Given the description of an element on the screen output the (x, y) to click on. 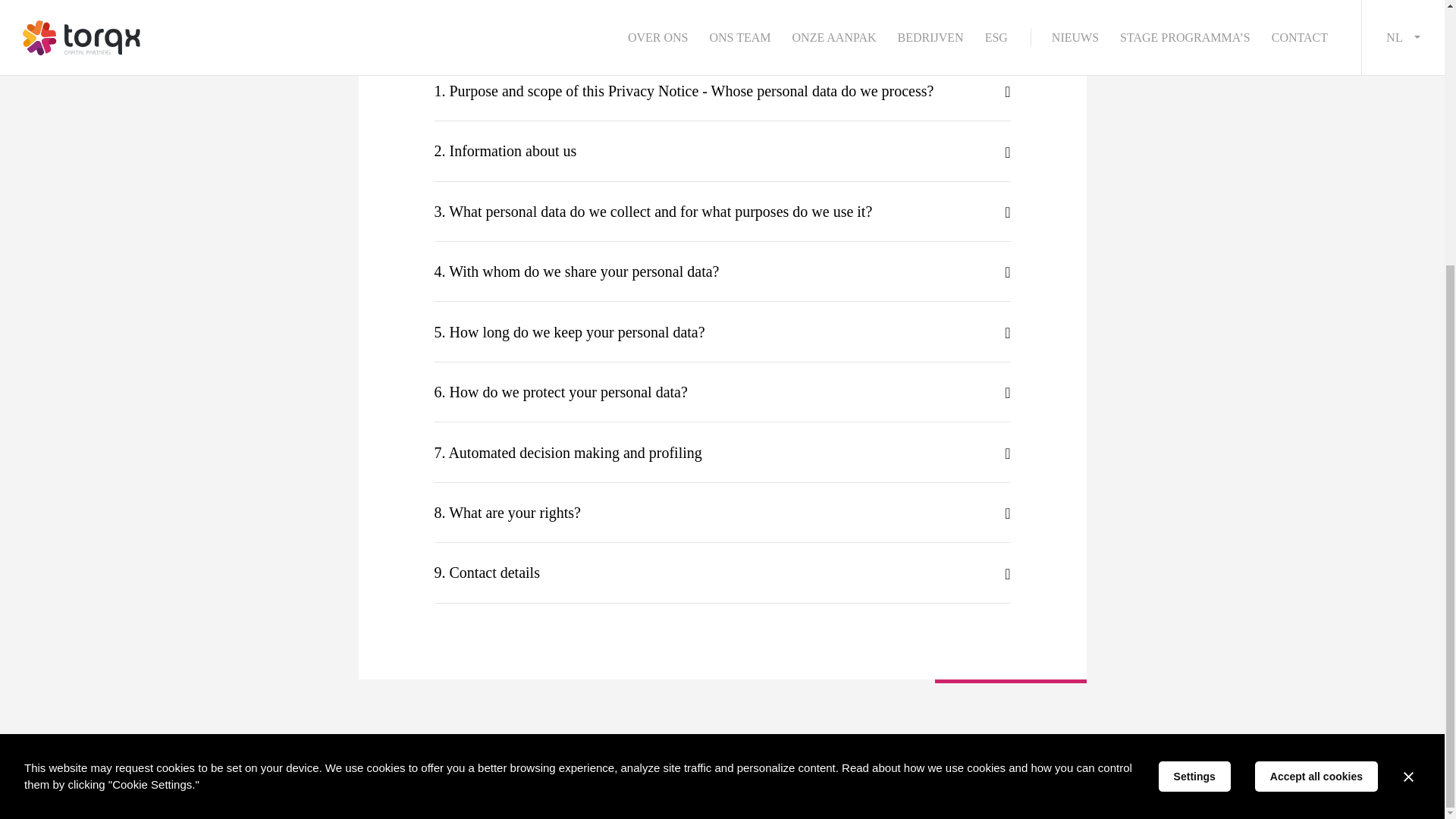
5. How long do we keep your personal data? (721, 331)
Cookie settings (1209, 787)
2. Information about us (721, 150)
6. How do we protect your personal data? (721, 392)
8. What are your rights? (721, 512)
Privacy statement (1123, 787)
7. Automated decision making and profiling (721, 451)
Settings (1194, 393)
Accept all cookies (1316, 393)
